Given the description of an element on the screen output the (x, y) to click on. 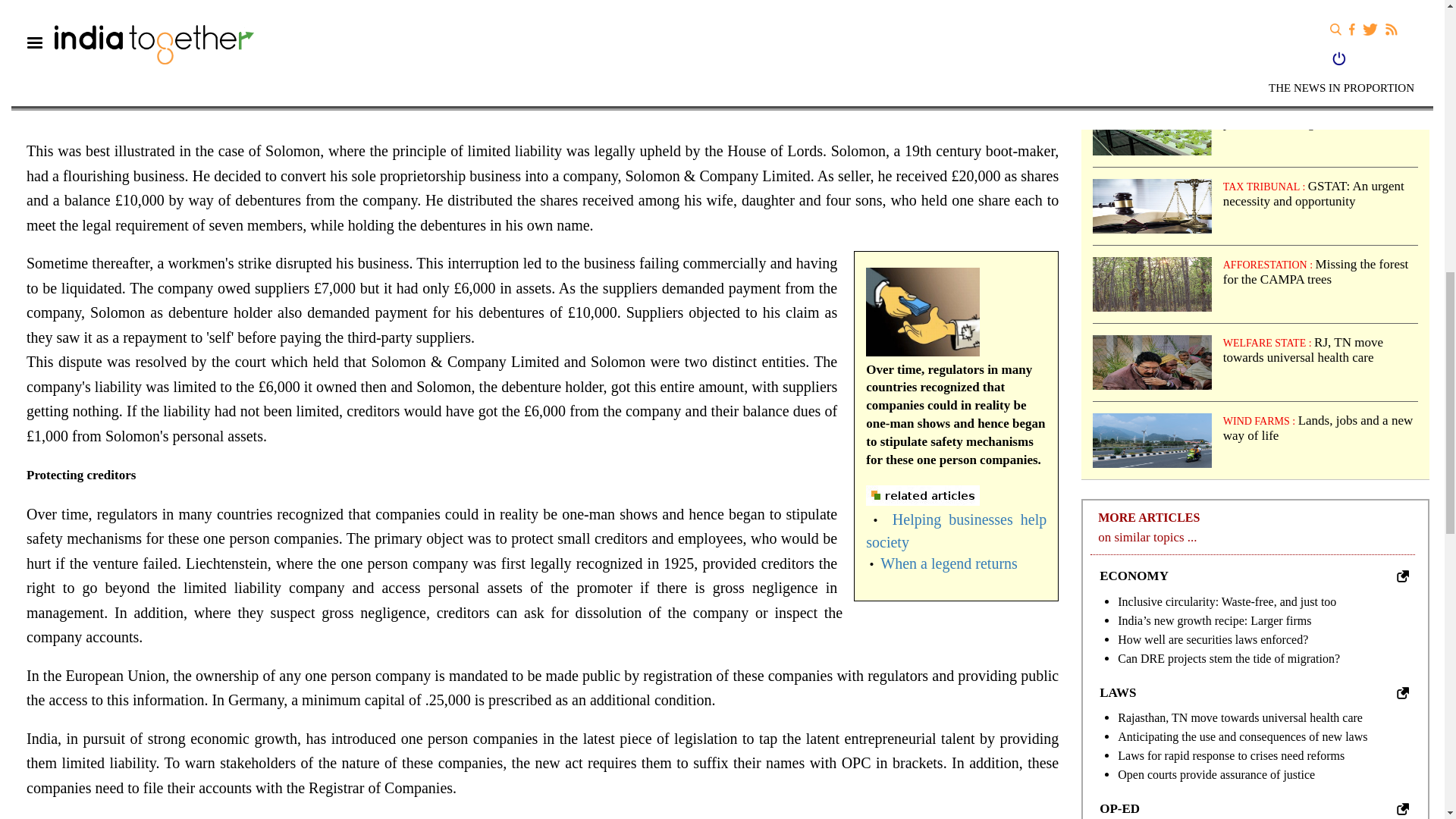
See all (1402, 576)
When a legend returns (948, 563)
See all (1402, 693)
See all (1402, 808)
Helping businesses help society (956, 530)
